Given the description of an element on the screen output the (x, y) to click on. 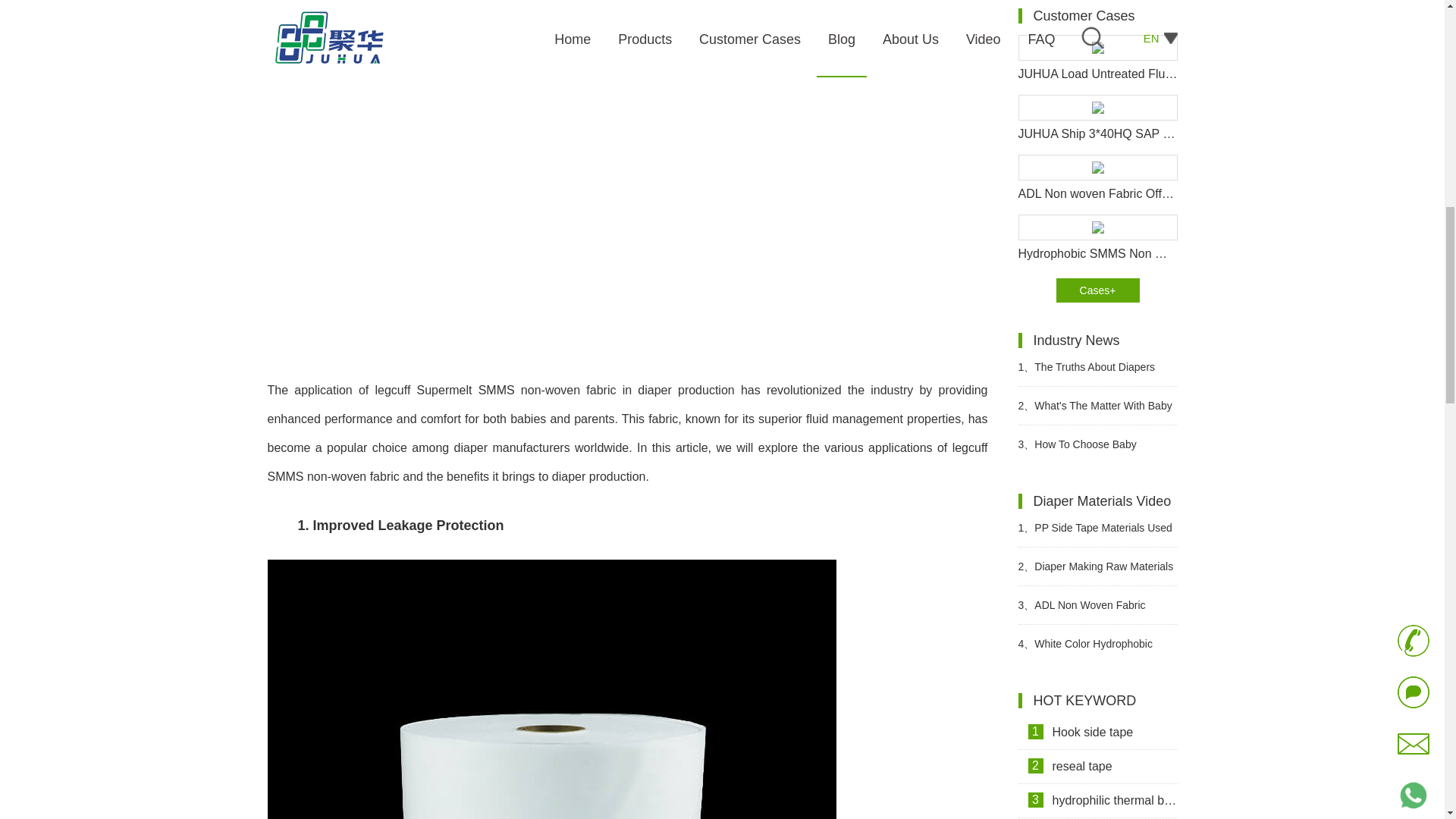
reseal tape (1096, 766)
PP Side Tape Materials Used In Diapers Video (1096, 527)
ADL Non Woven  Fabric  Sanitary Pad Raw Material Video (1096, 604)
Hook side tape (1096, 732)
Diaper Making Raw Materials Video (1096, 566)
hydrophilic thermal bond non woven fabric  (1096, 800)
